Given the description of an element on the screen output the (x, y) to click on. 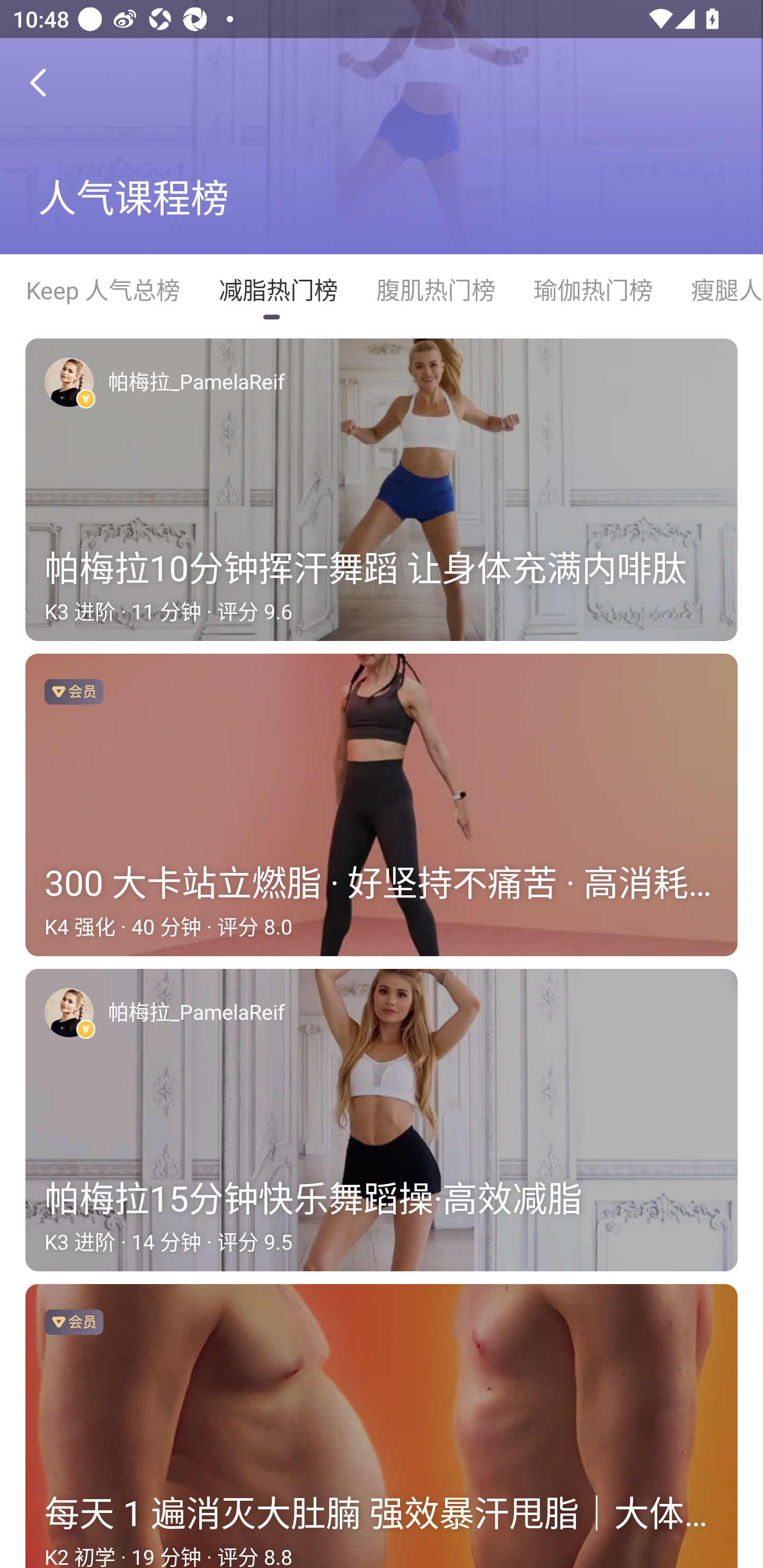
Left Button In Title Bar (50, 82)
Keep 人气总榜 (102, 290)
减脂热门榜 (277, 290)
腹肌热门榜 (435, 290)
瑜伽热门榜 (592, 290)
瘦腿人气榜 (717, 290)
每天 1 遍消灭大肚腩 强效暴汗甩脂｜大体重专属 K2 初学 · 19 分钟 · 评分 8.8 (381, 1426)
